Given the description of an element on the screen output the (x, y) to click on. 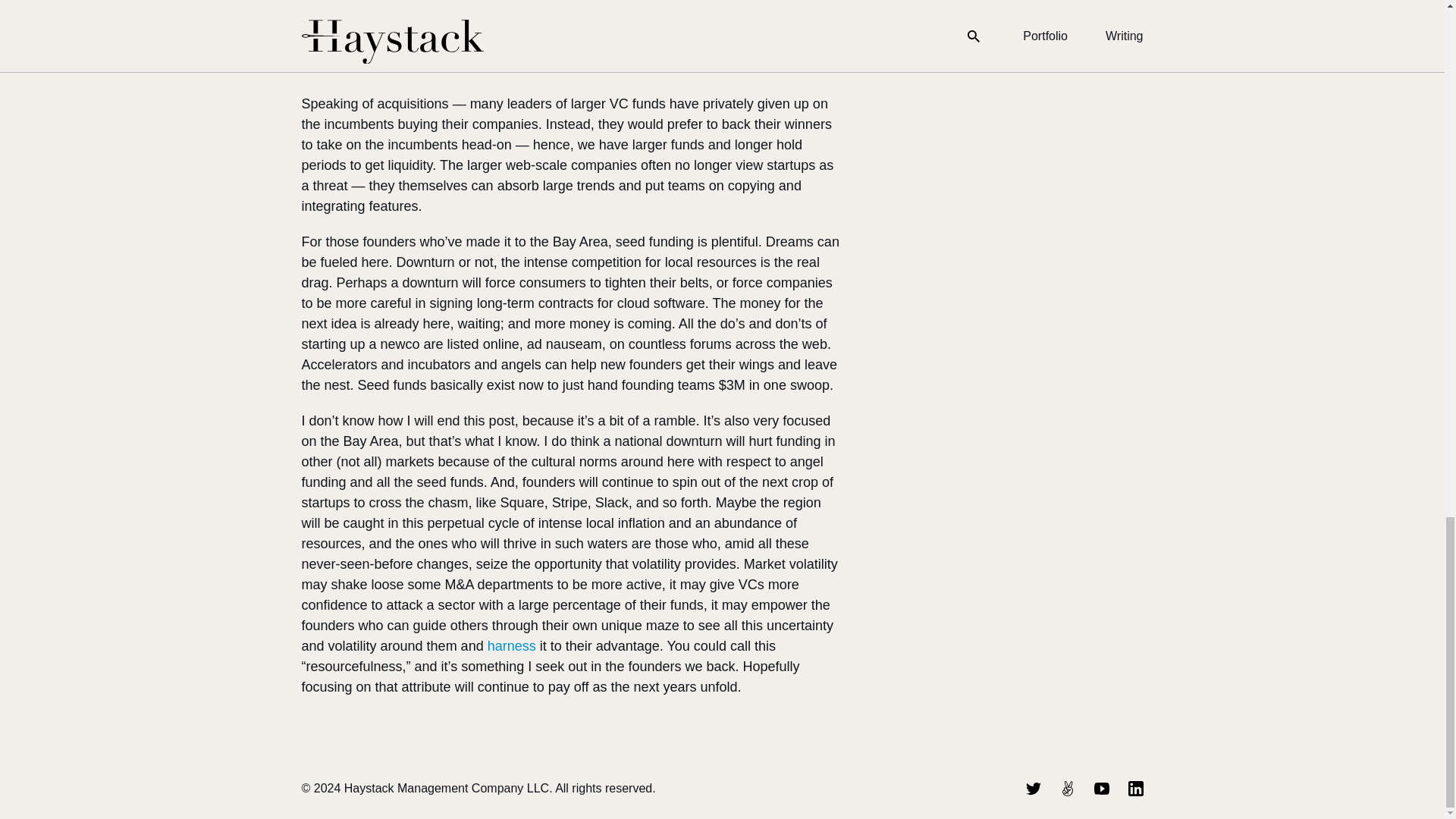
harness (511, 645)
